Given the description of an element on the screen output the (x, y) to click on. 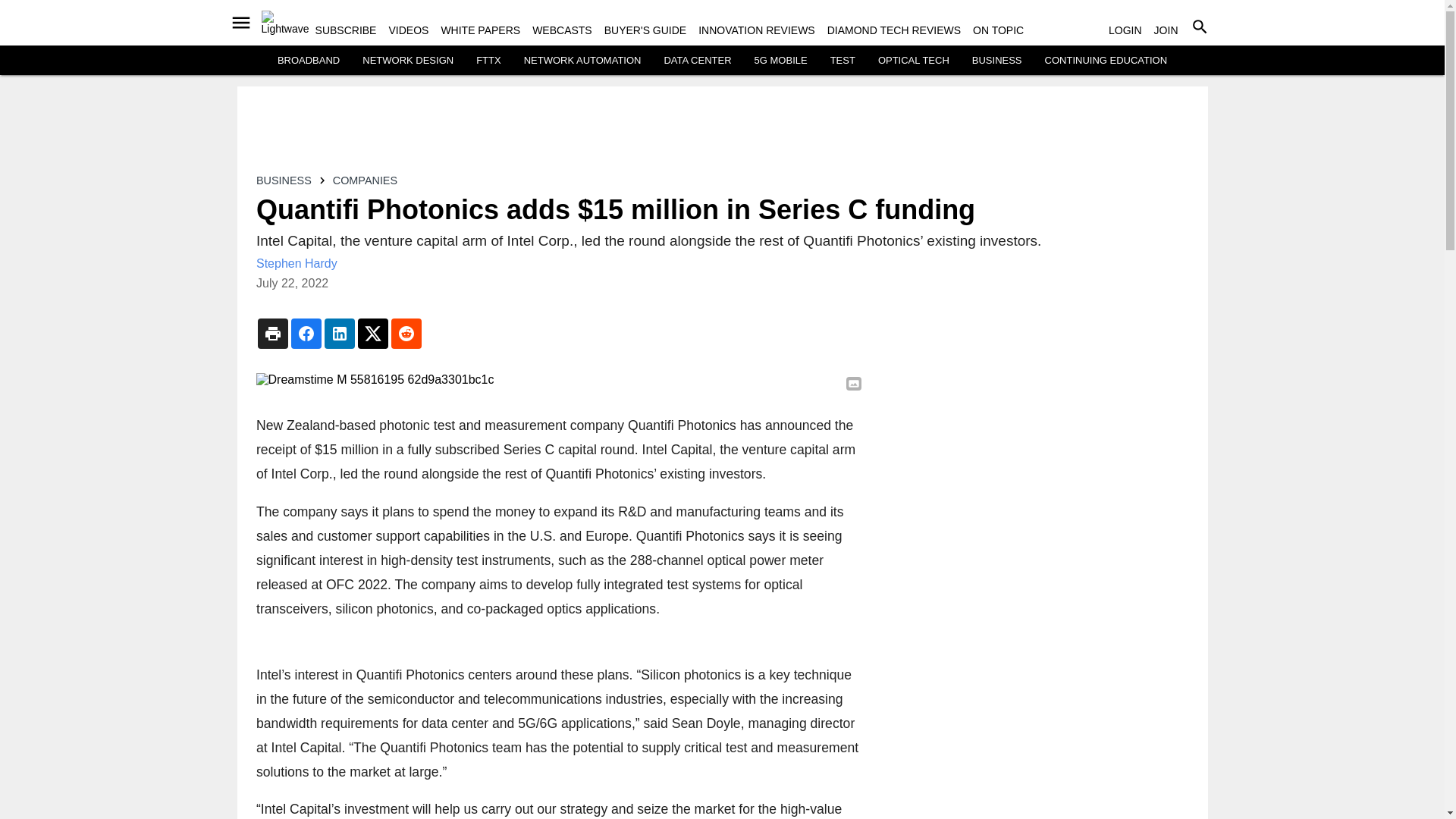
DATA CENTER (696, 60)
ON TOPIC (997, 30)
CONTINUING EDUCATION (1106, 60)
NETWORK DESIGN (407, 60)
WHITE PAPERS (480, 30)
OPTICAL TECH (913, 60)
BUYER'S GUIDE (644, 30)
NETWORK AUTOMATION (583, 60)
WEBCASTS (562, 30)
BUSINESS (997, 60)
TEST (842, 60)
SUBSCRIBE (346, 30)
JOIN (1165, 30)
5G MOBILE (781, 60)
BROADBAND (308, 60)
